Given the description of an element on the screen output the (x, y) to click on. 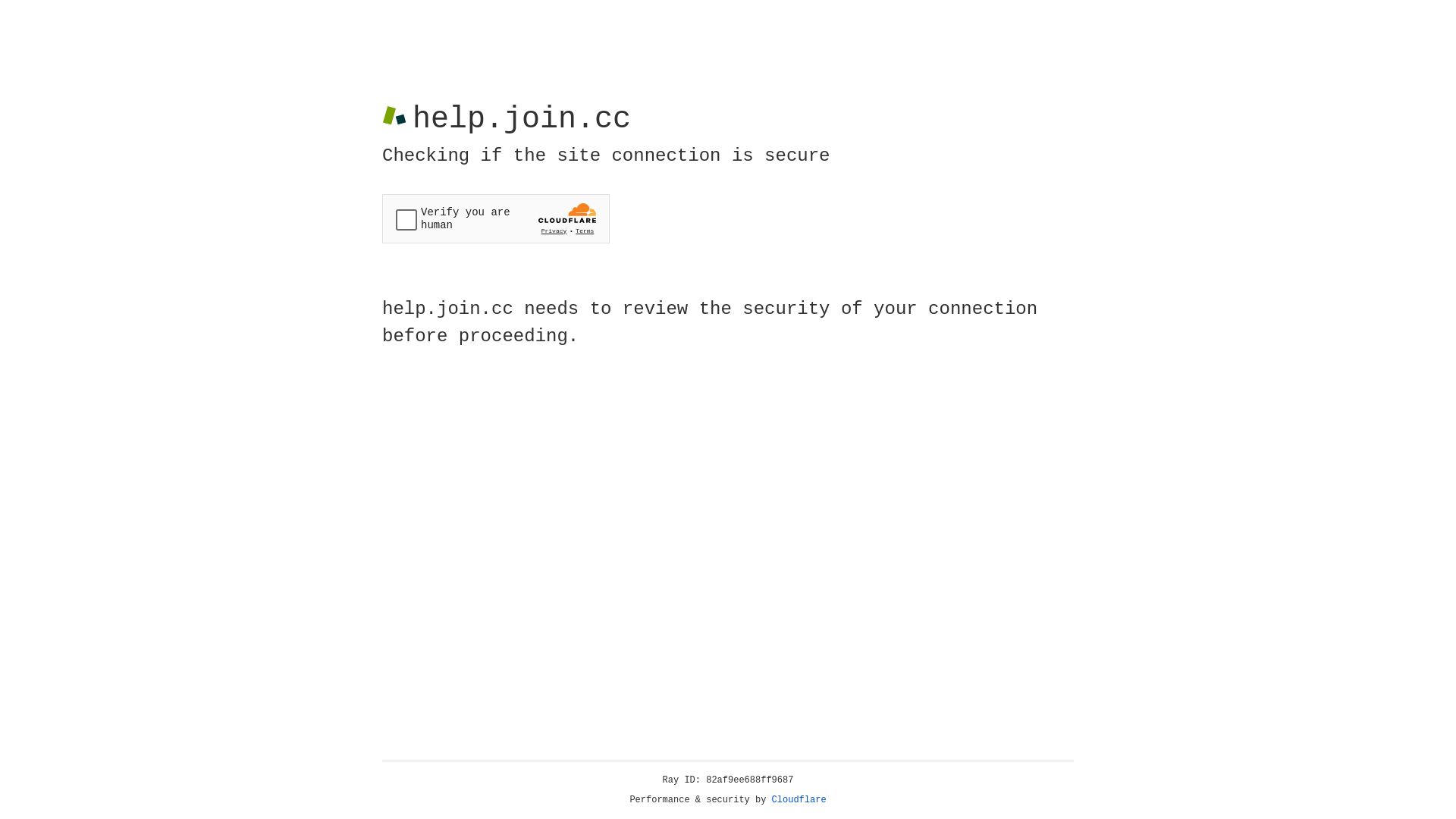
Cloudflare Element type: text (798, 799)
Widget containing a Cloudflare security challenge Element type: hover (495, 218)
